Given the description of an element on the screen output the (x, y) to click on. 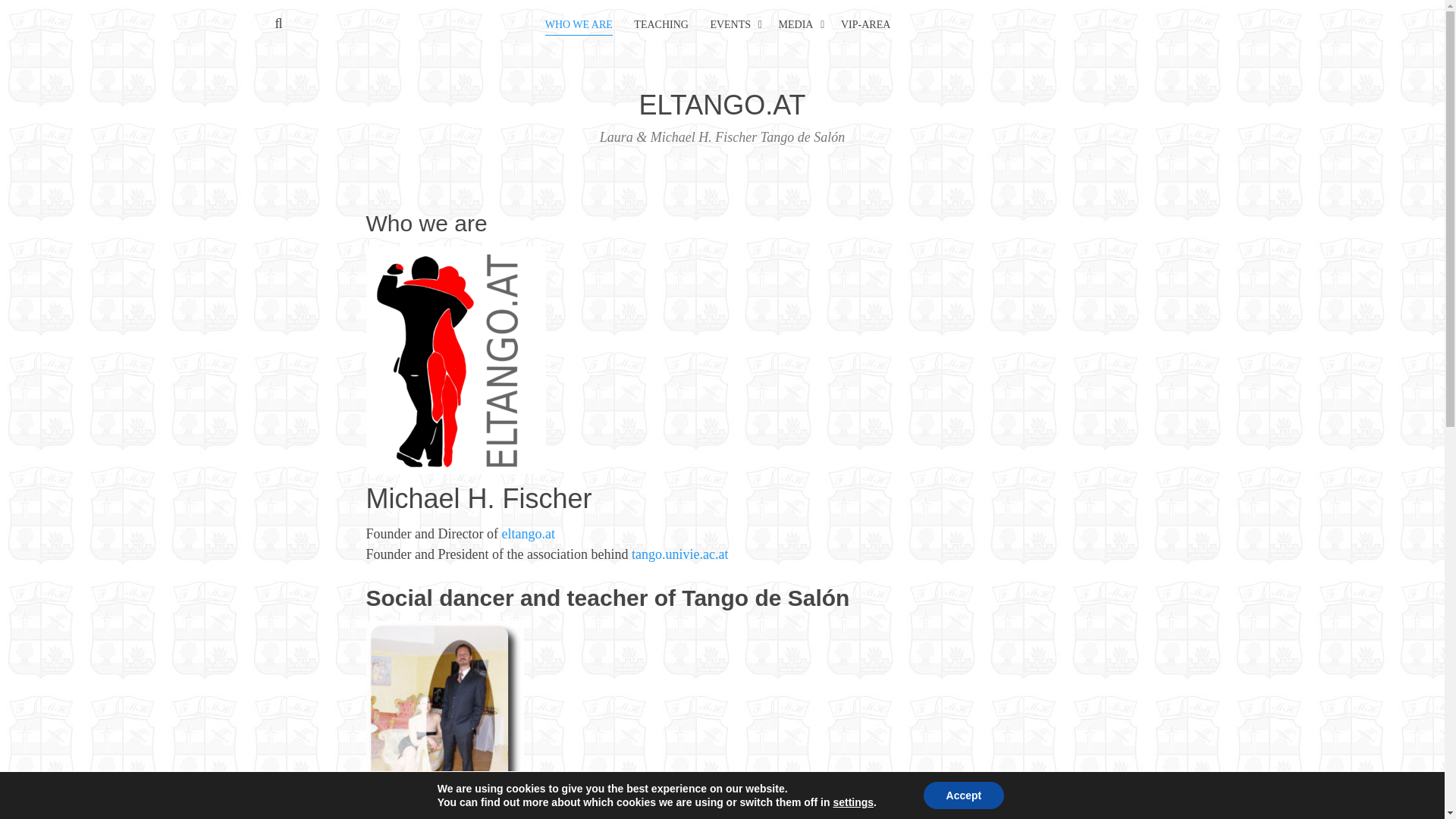
WHO WE ARE (578, 25)
TEACHING (660, 25)
EVENTS (730, 25)
